Given the description of an element on the screen output the (x, y) to click on. 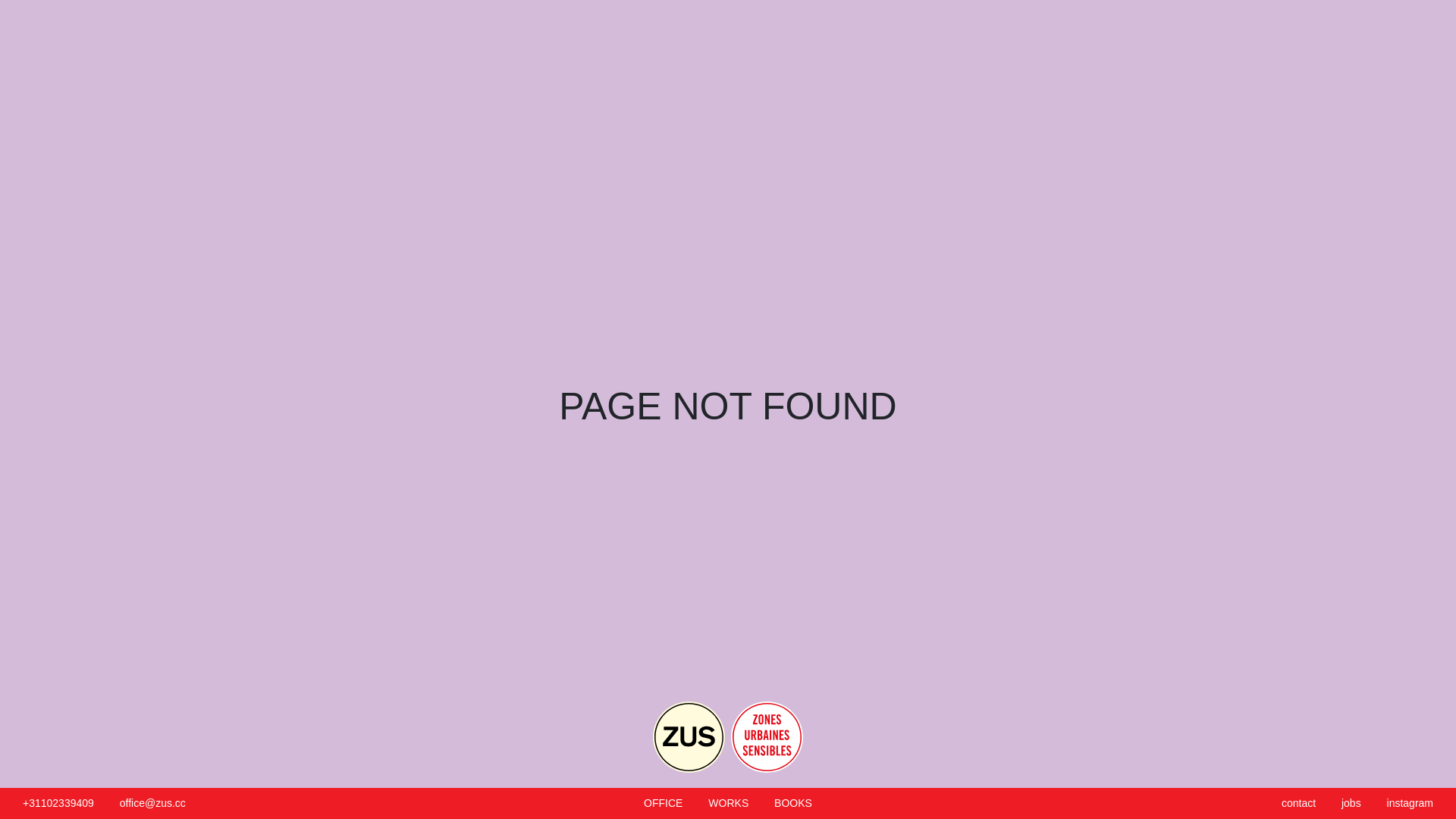
BOOKS Element type: text (793, 803)
jobs Element type: text (1351, 803)
office@zus.cc Element type: text (152, 803)
OFFICE Element type: text (662, 803)
+31102339409 Element type: text (58, 803)
instagram Element type: text (1409, 803)
WORKS Element type: text (728, 803)
contact Element type: text (1298, 803)
